Given the description of an element on the screen output the (x, y) to click on. 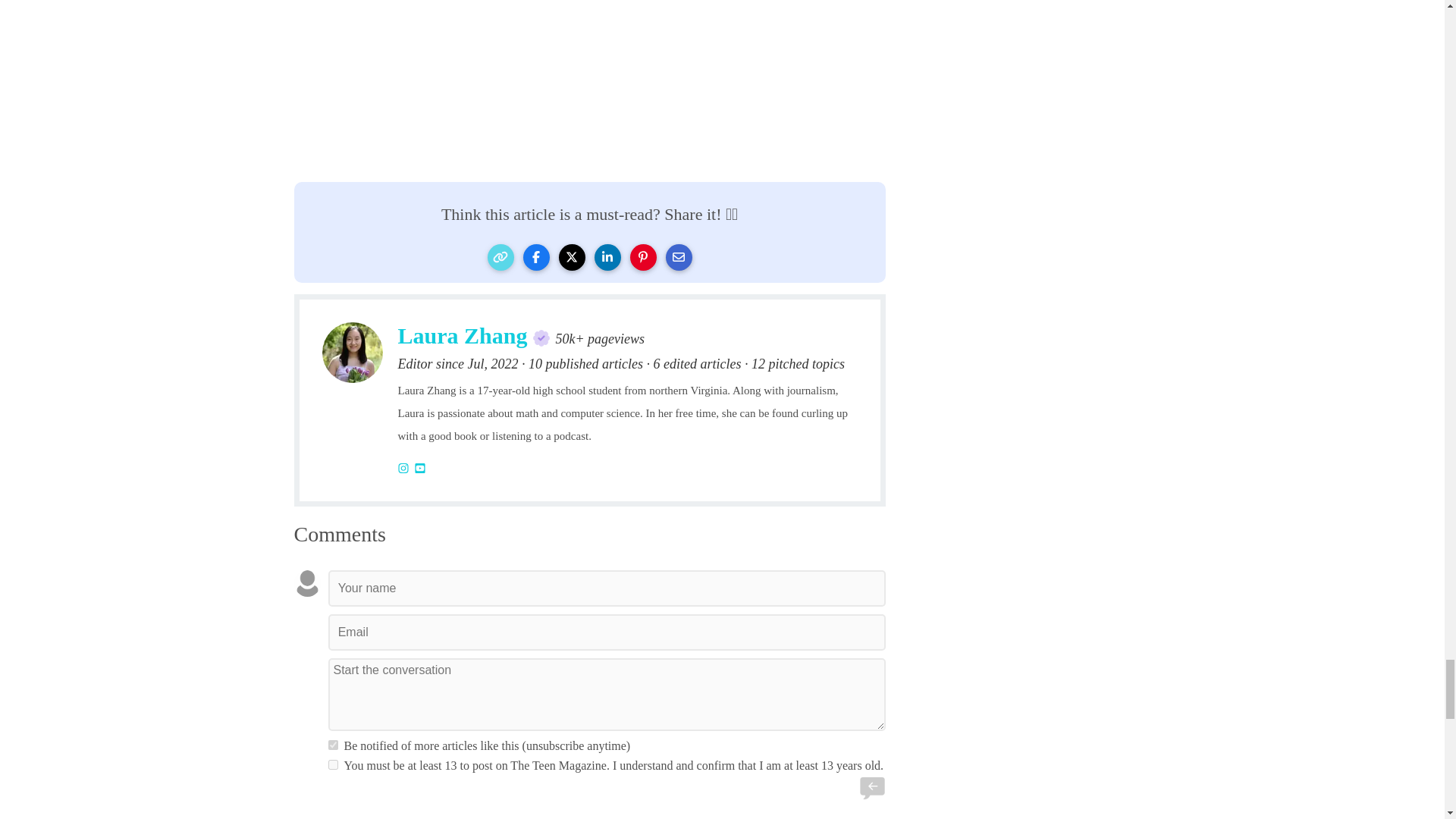
1 (332, 764)
1 (332, 745)
